Given the description of an element on the screen output the (x, y) to click on. 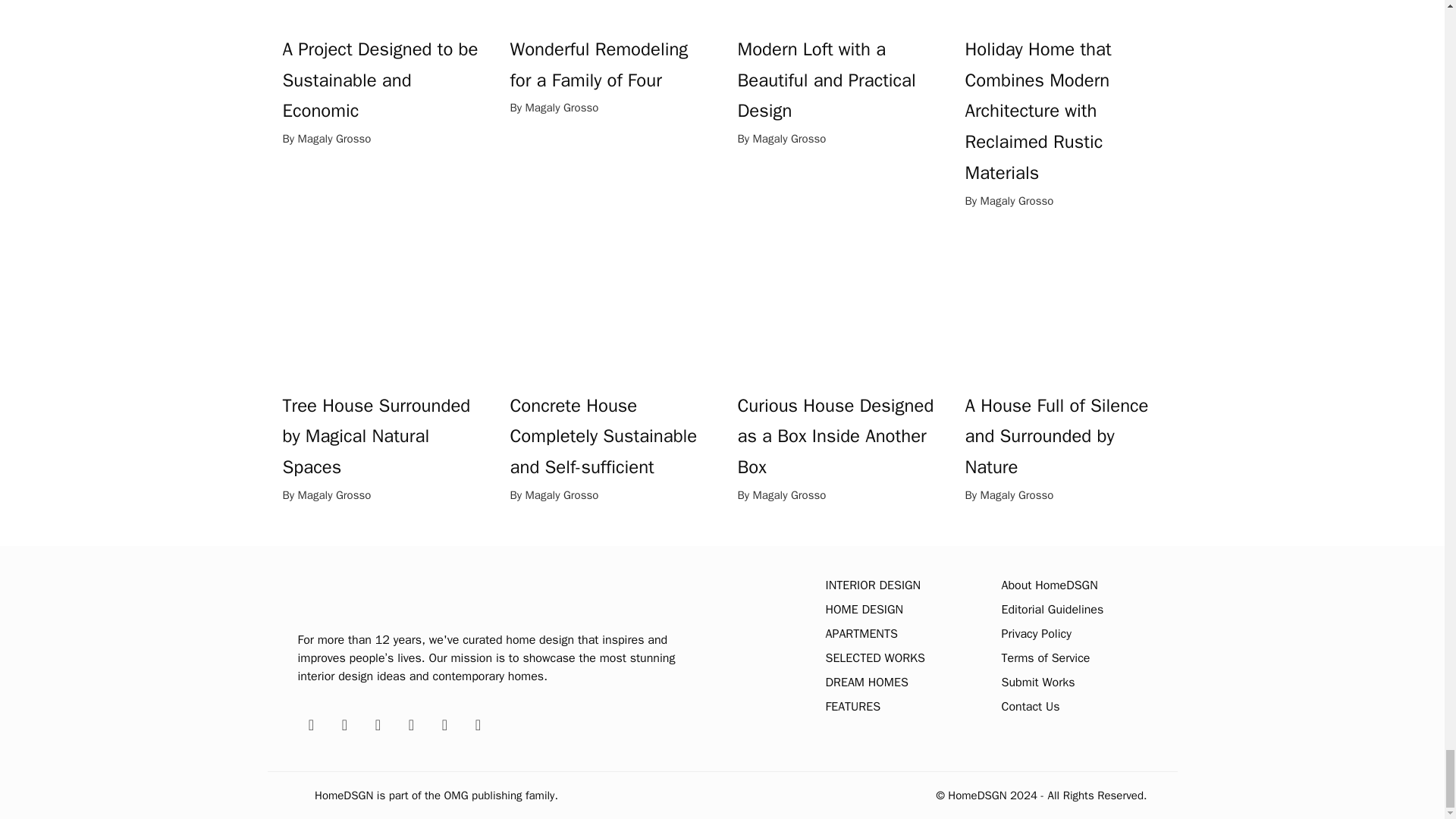
Instagram (410, 724)
Facebook (310, 724)
Pinterest (343, 724)
LinkedIn (443, 724)
Twitter (377, 724)
YouTube (477, 724)
